Given the description of an element on the screen output the (x, y) to click on. 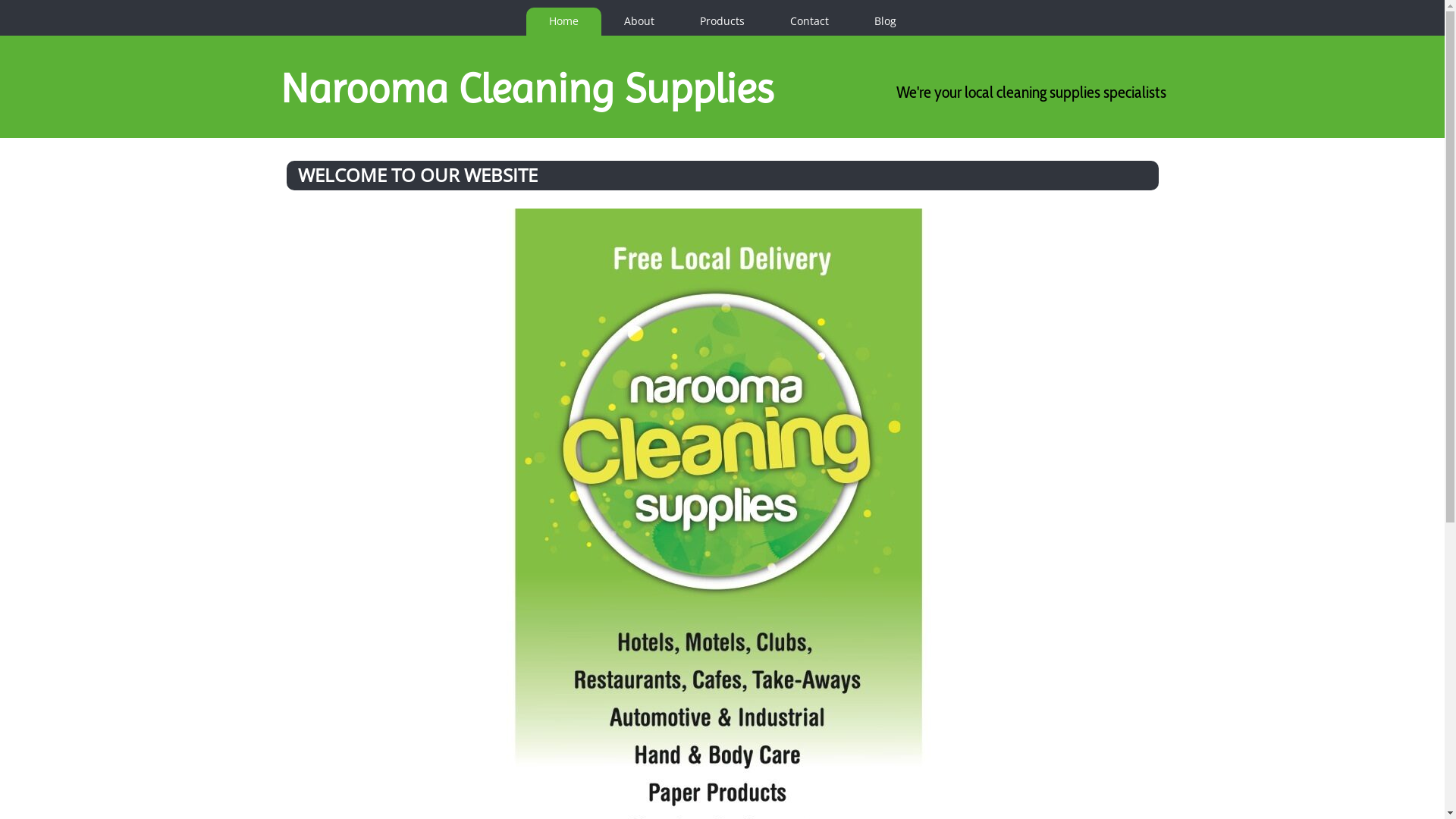
Contact Element type: text (809, 21)
Home Element type: text (563, 21)
Products Element type: text (721, 21)
About Element type: text (638, 21)
Blog Element type: text (884, 21)
Narooma Cleaning Supplies Element type: text (526, 88)
